Given the description of an element on the screen output the (x, y) to click on. 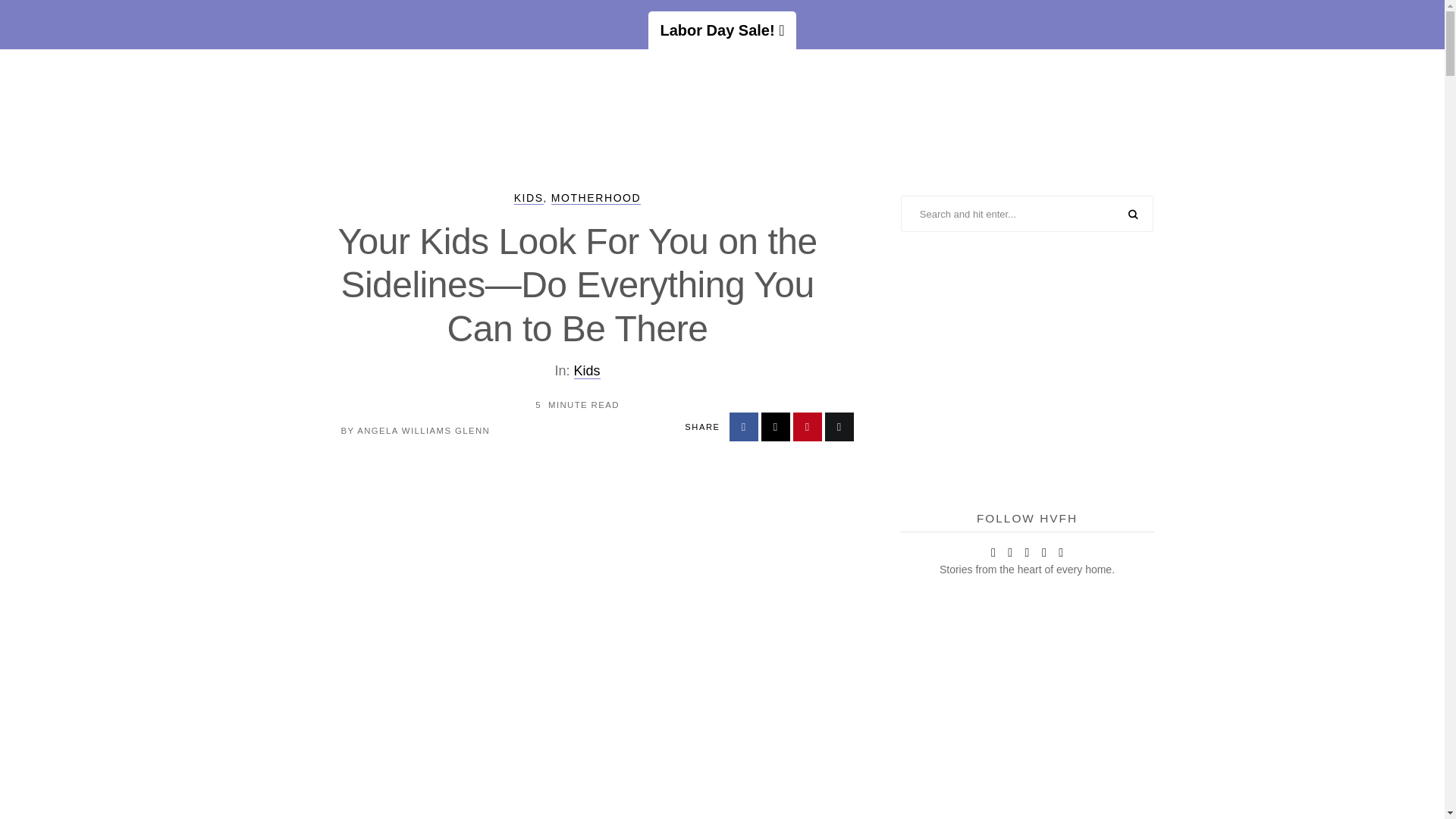
Share on Pinterest (807, 426)
SEARCH (1133, 214)
Share on Facebook (743, 426)
Share on X (775, 426)
Share by Email (839, 426)
